Given the description of an element on the screen output the (x, y) to click on. 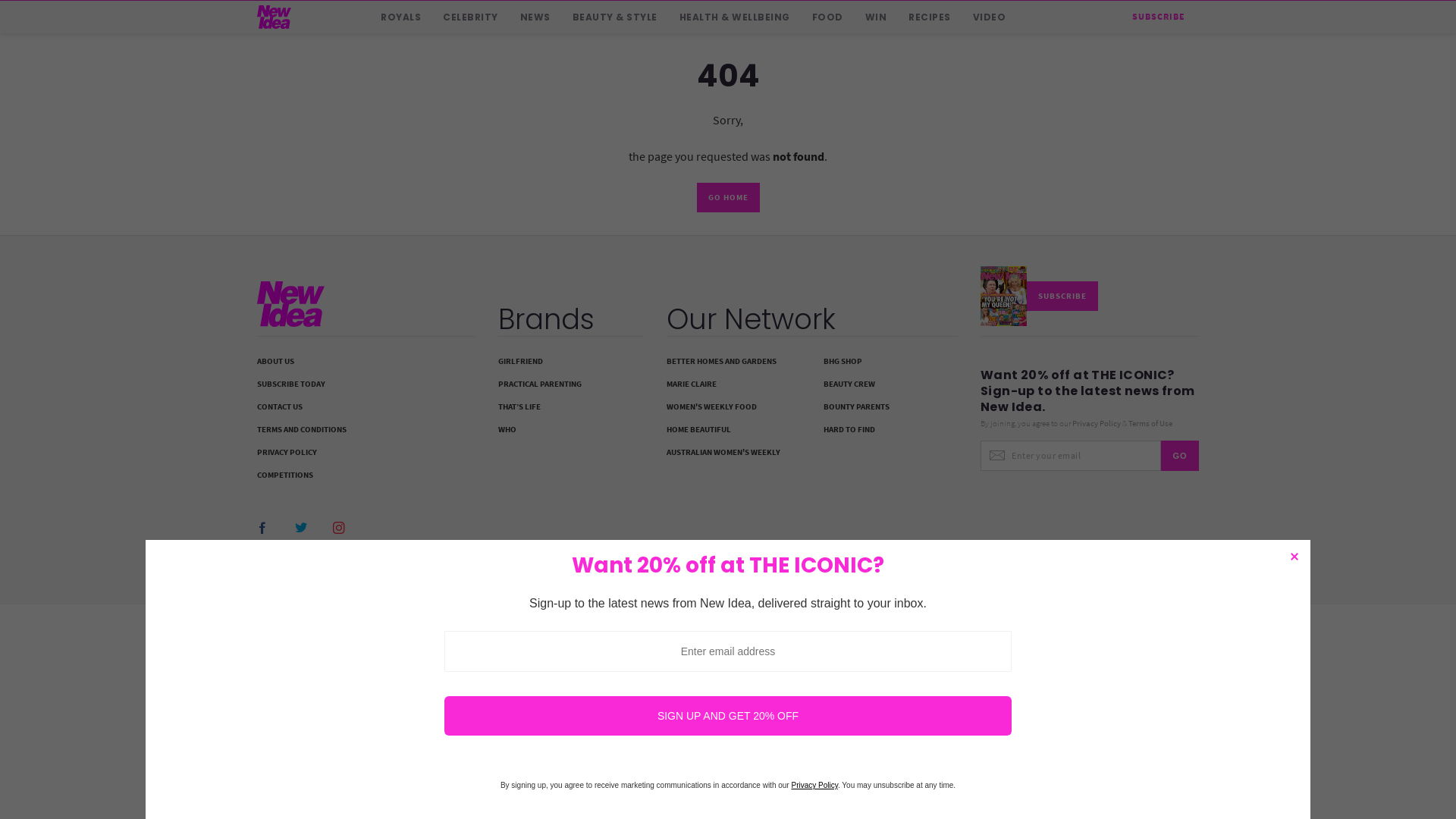
SIGN UP AND GET 20% OFF Element type: text (727, 715)
AUSTRALIAN WOMEN'S WEEKLY Element type: text (811, 452)
Privacy Policy Element type: text (813, 785)
SUBSCRIBE Element type: text (1039, 294)
COMPETITIONS Element type: text (366, 475)
VIDEO Element type: text (988, 16)
BETTER HOMES AND GARDENS Element type: text (733, 361)
PRIVACY POLICY Element type: text (366, 452)
CELEBRITY Element type: text (470, 16)
HOME BEAUTIFUL Element type: text (733, 429)
Twitter Element type: hover (302, 528)
NewIdea Element type: hover (328, 303)
TERMS AND CONDITIONS Element type: text (366, 429)
RECIPES Element type: text (929, 16)
Facebook Element type: hover (264, 528)
FOOD Element type: text (826, 16)
SUBSCRIBE Element type: text (1158, 16)
GO Element type: text (1179, 455)
ROYALS Element type: text (400, 16)
ABOUT US Element type: text (366, 361)
GIRLFRIEND Element type: text (570, 361)
WIN Element type: text (875, 16)
BOUNTY PARENTS Element type: text (890, 406)
MARIE CLAIRE Element type: text (733, 384)
GO HOME Element type: text (727, 197)
PRACTICAL PARENTING Element type: text (570, 384)
NEWS Element type: text (535, 16)
Instagram Element type: hover (340, 528)
HARD TO FIND Element type: text (890, 429)
CONTACT US Element type: text (366, 406)
WHO Element type: text (570, 429)
BEAUTY & STYLE Element type: text (613, 16)
BHG SHOP Element type: text (890, 361)
Terms of Use Element type: text (1150, 423)
WOMEN'S WEEKLY FOOD Element type: text (733, 406)
Privacy Policy Element type: text (1096, 423)
HEALTH & WELLBEING Element type: text (734, 16)
BEAUTY CREW Element type: text (890, 384)
SUBSCRIBE TODAY Element type: text (366, 384)
